Given the description of an element on the screen output the (x, y) to click on. 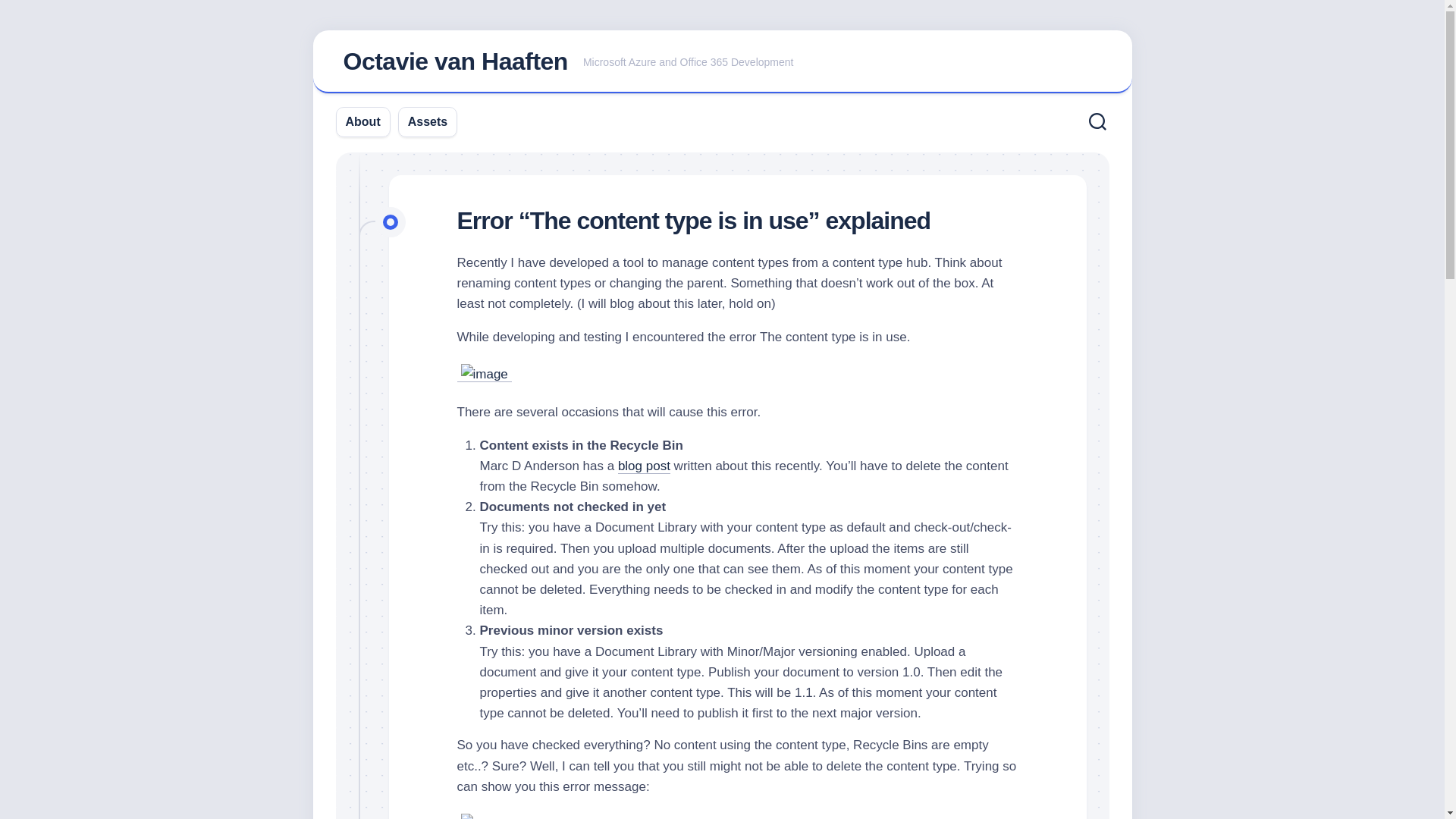
image (484, 373)
Octavie van Haaften (454, 61)
image (484, 816)
Assets (426, 121)
blog post (643, 465)
About (363, 121)
